Given the description of an element on the screen output the (x, y) to click on. 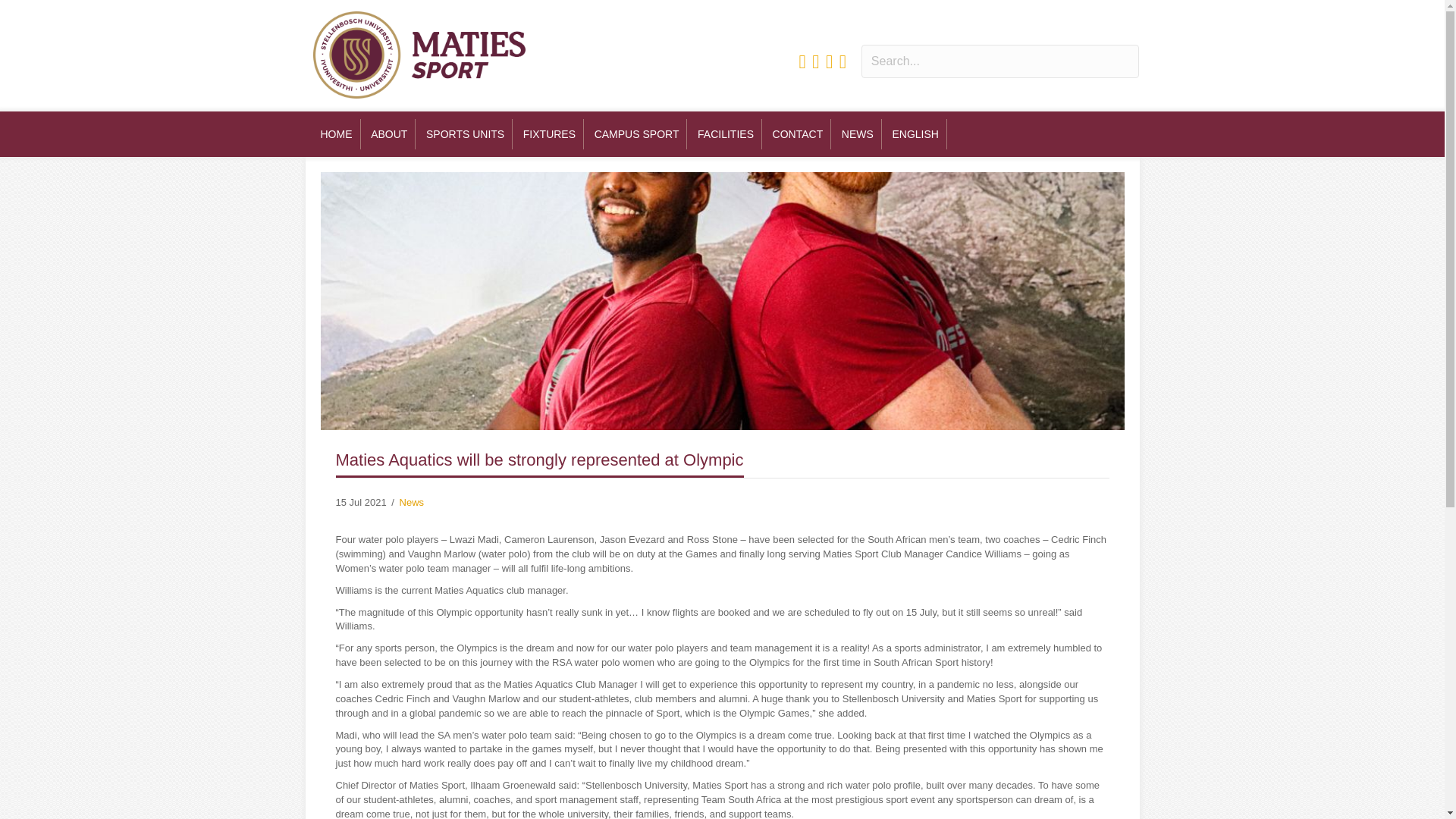
CAMPUS SPORT (636, 133)
FIXTURES (549, 133)
FACILITIES (725, 133)
ABOUT (388, 133)
English (914, 133)
HOME (336, 133)
ENGLISH (914, 133)
SPORTS UNITS (465, 133)
NEWS (858, 133)
CONTACT (798, 133)
